Given the description of an element on the screen output the (x, y) to click on. 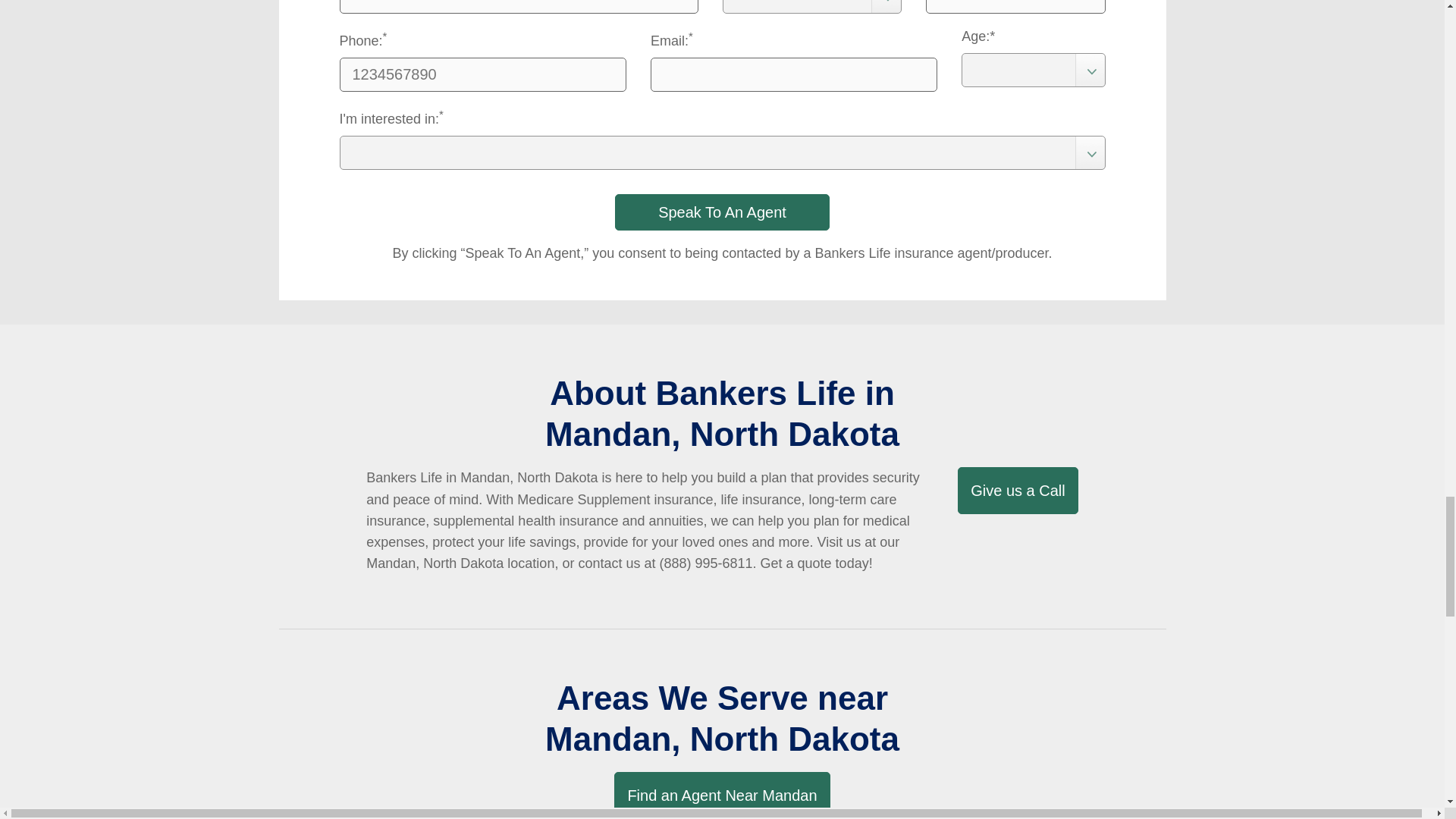
5 digit zip code (1015, 6)
valid email address (793, 74)
10 digit phone number (482, 74)
Speak To An Agent (721, 212)
